Given the description of an element on the screen output the (x, y) to click on. 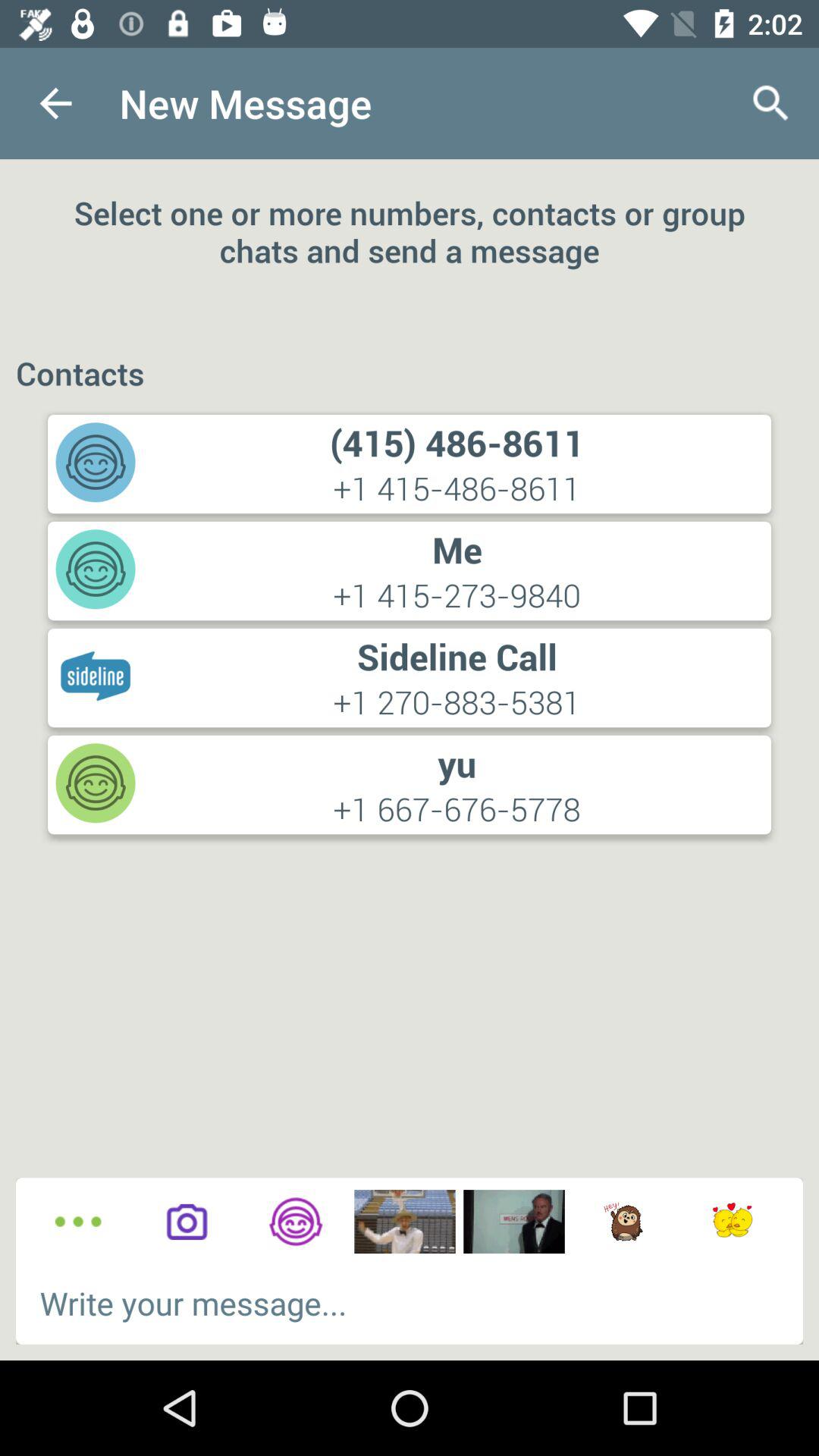
message this meme (404, 1221)
